Given the description of an element on the screen output the (x, y) to click on. 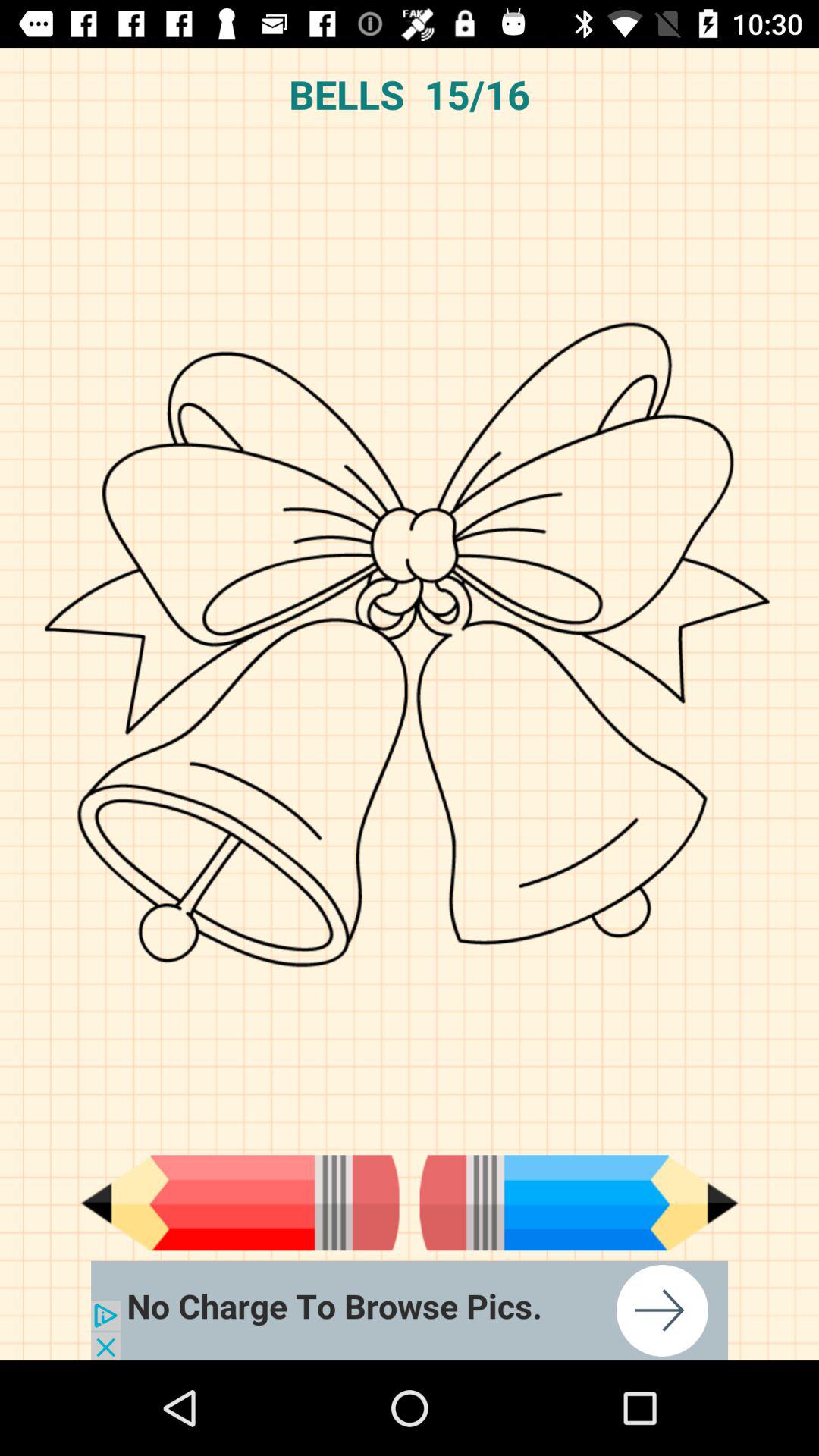
advertisement (409, 1310)
